Given the description of an element on the screen output the (x, y) to click on. 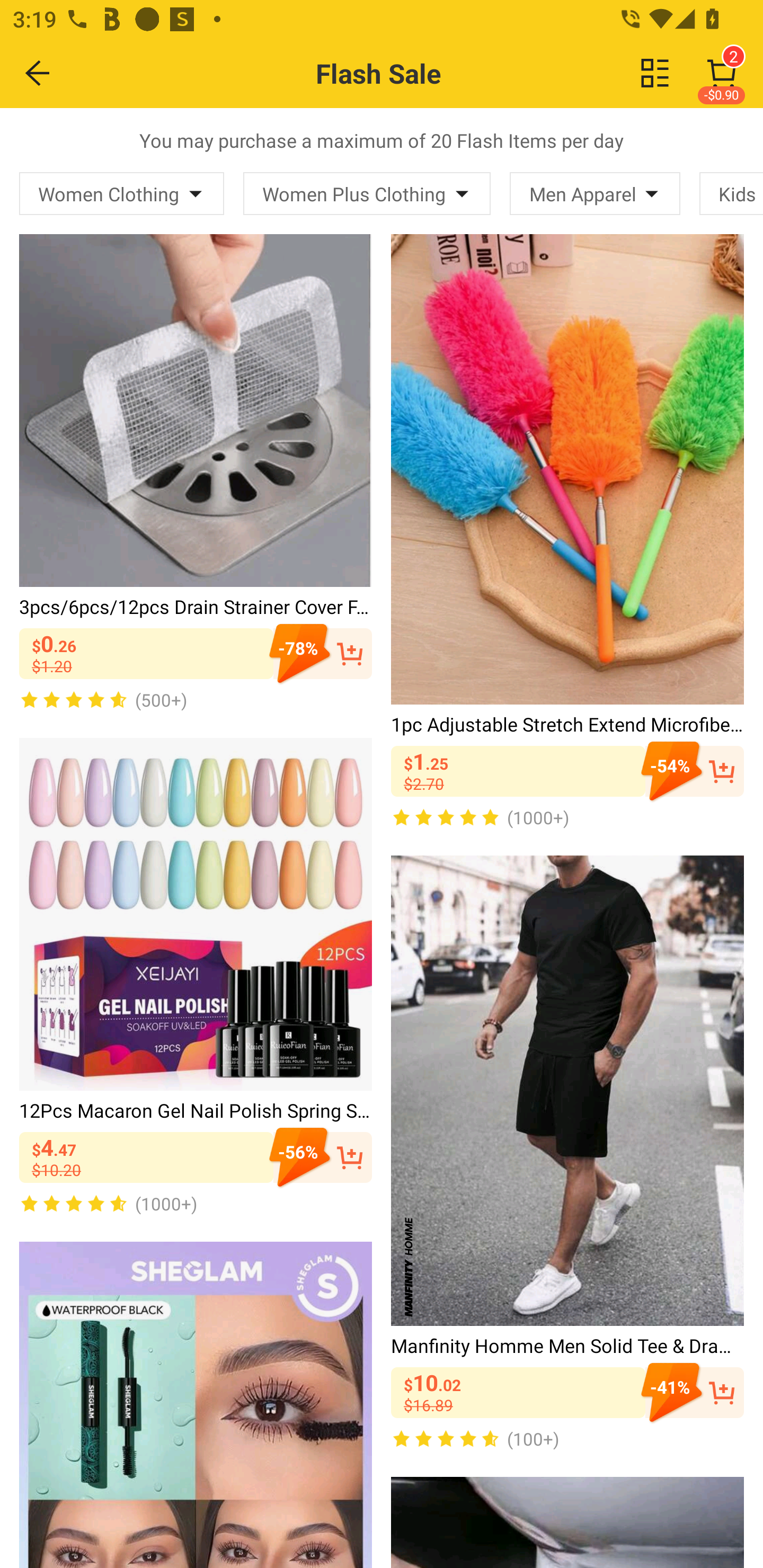
Flash Sale change view 2 -$0.90 (419, 72)
2 -$0.90 (721, 72)
change view (654, 72)
BACK (38, 72)
Women Clothing (121, 193)
Women Plus Clothing (366, 193)
Men Apparel (594, 193)
